Given the description of an element on the screen output the (x, y) to click on. 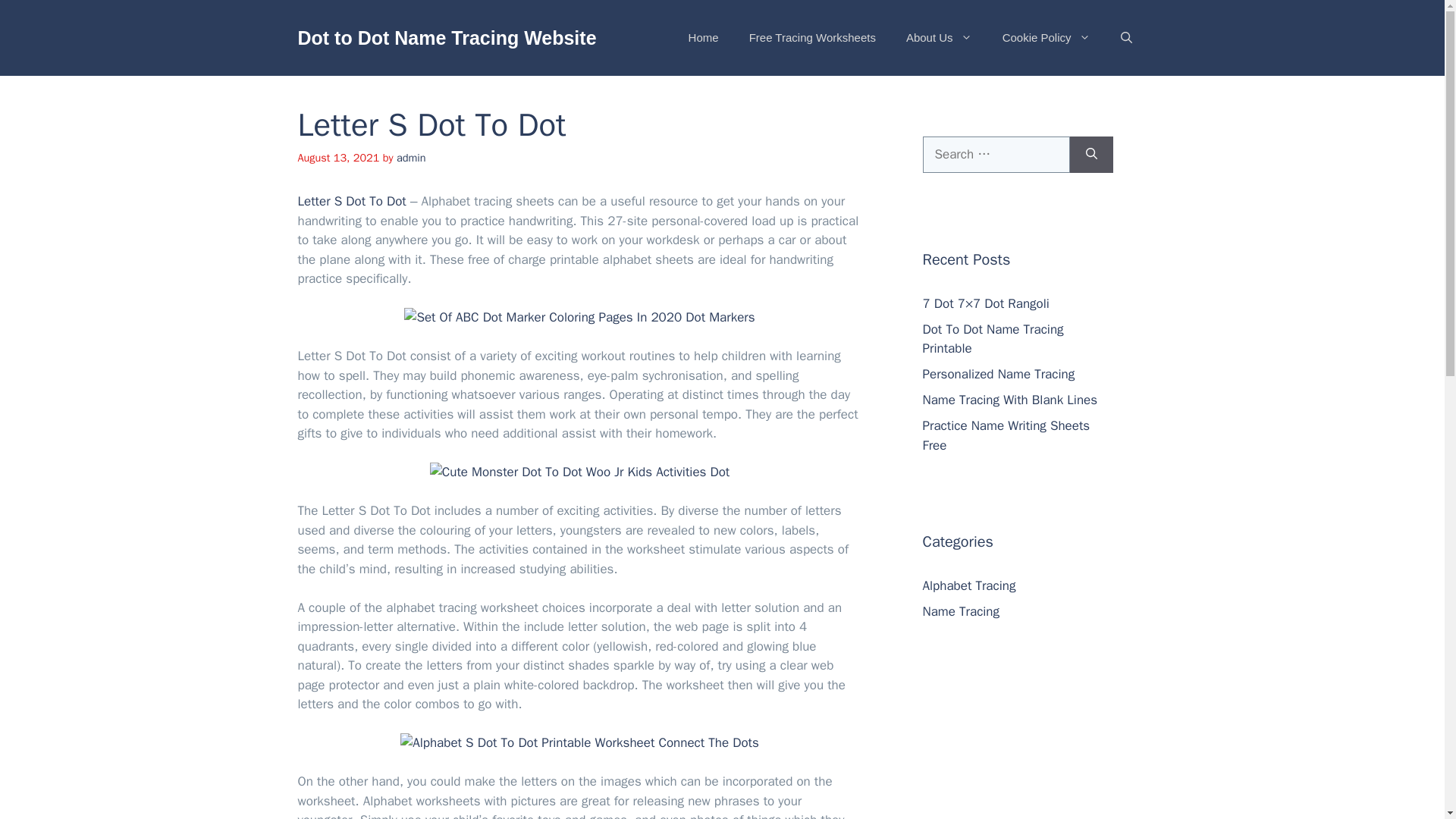
View all posts by admin (411, 157)
Practice Name Writing Sheets Free (1005, 435)
admin (411, 157)
Name Tracing With Blank Lines (1009, 399)
Letter S Dot To Dot (351, 201)
Name Tracing (959, 611)
Home (702, 37)
Search for: (994, 154)
Free Tracing Worksheets (812, 37)
Dot to Dot Name Tracing Website (446, 37)
About Us (939, 37)
Personalized Name Tracing (997, 374)
Cookie Policy (1046, 37)
Alphabet Tracing (967, 585)
Dot To Dot Name Tracing Printable (991, 339)
